Given the description of an element on the screen output the (x, y) to click on. 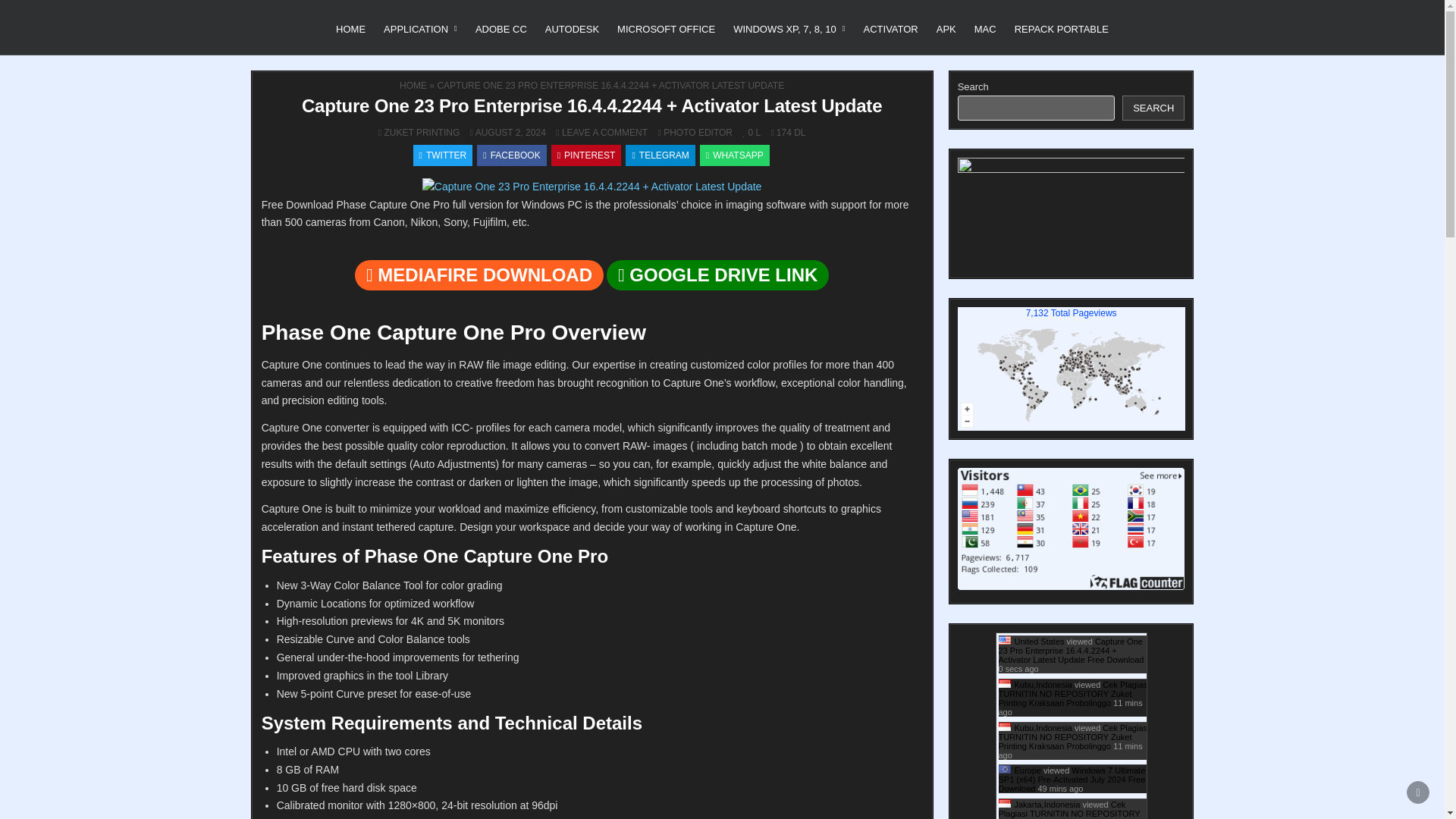
SCROLL TO TOP (1417, 792)
174 Views (780, 132)
HOME (350, 29)
Share this on WhatsApp (735, 155)
Like this (747, 132)
APPLICATION (419, 29)
Share this on Telegram (660, 155)
Tweet This! (443, 155)
Software Center (306, 18)
Share this on Pinterest (586, 155)
Share this on Facebook (511, 155)
